Given the description of an element on the screen output the (x, y) to click on. 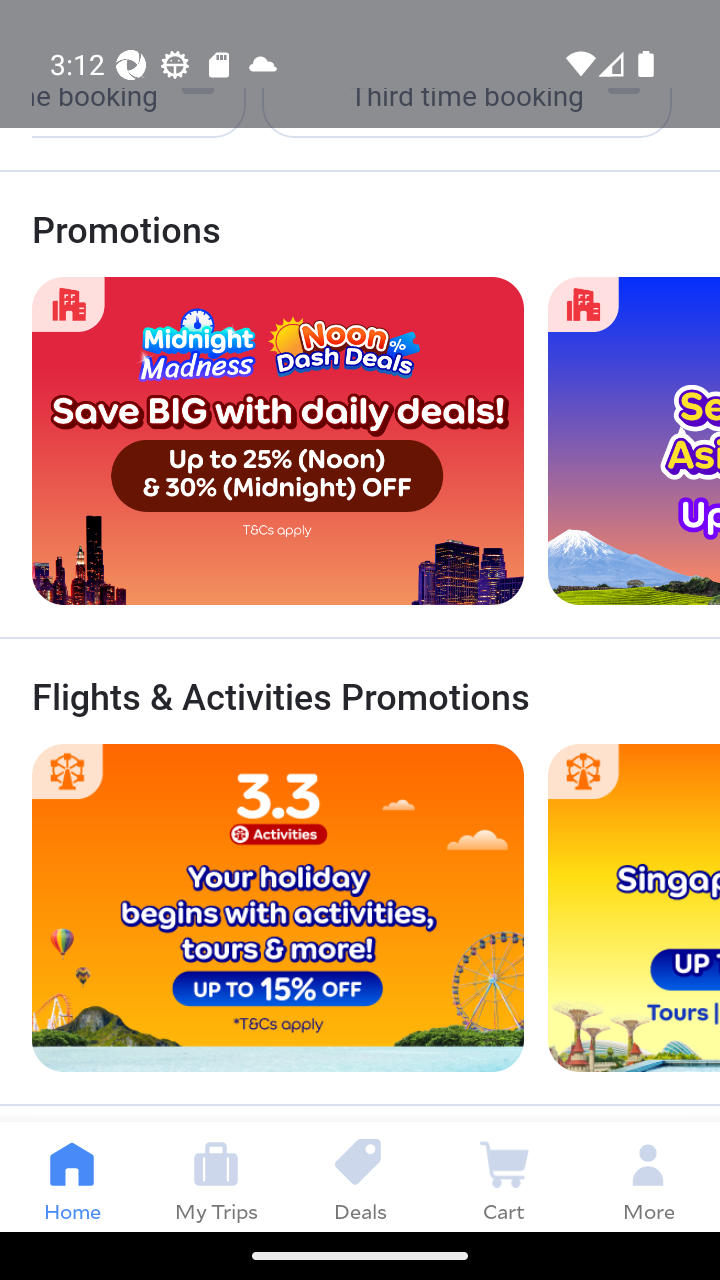
Home (72, 1176)
My Trips (216, 1176)
Deals (360, 1176)
Cart (504, 1176)
More (648, 1176)
